Given the description of an element on the screen output the (x, y) to click on. 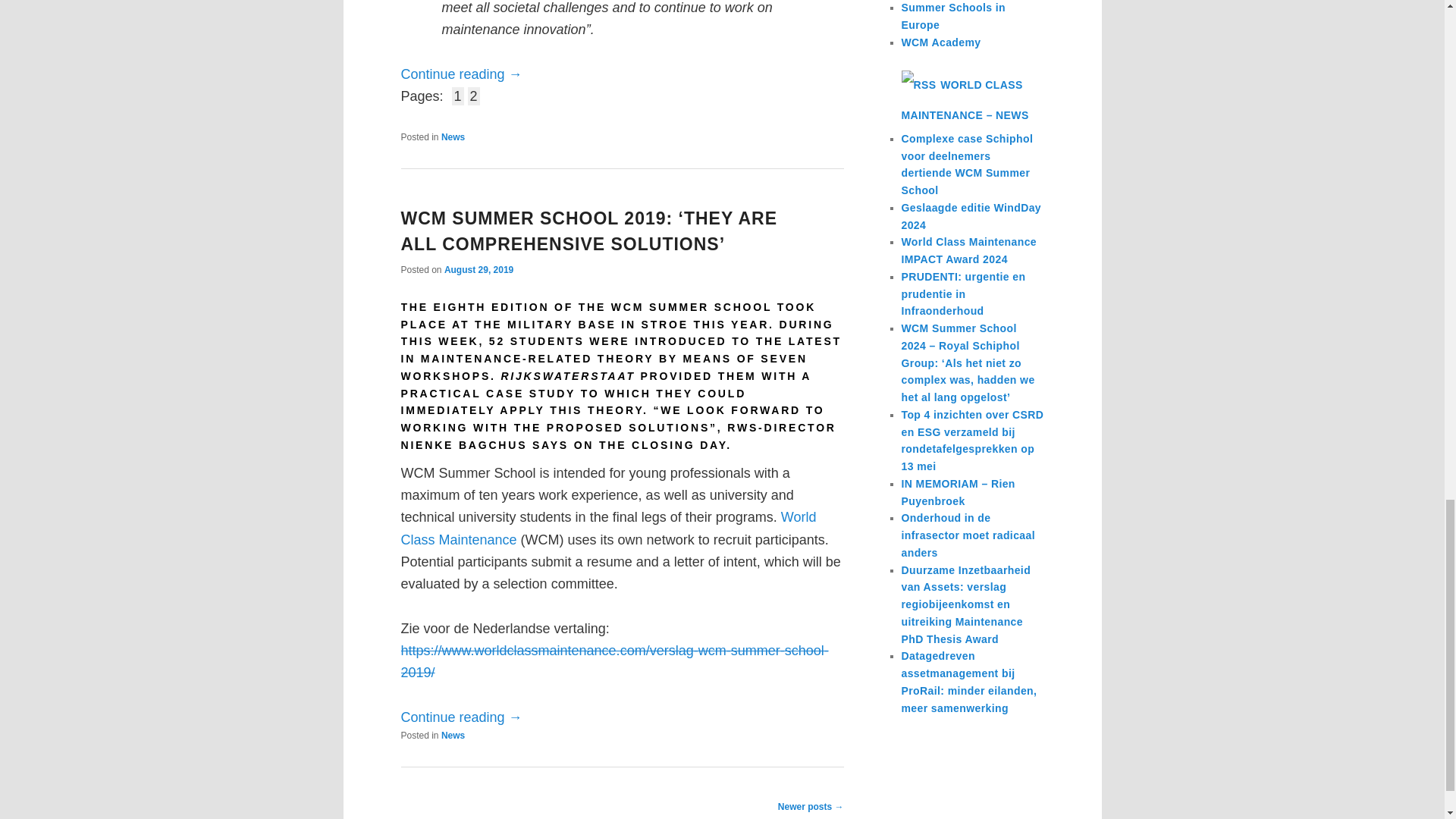
August 29, 2019 (478, 269)
News (452, 136)
World Class Maintenance (607, 528)
09:14 (478, 269)
